Given the description of an element on the screen output the (x, y) to click on. 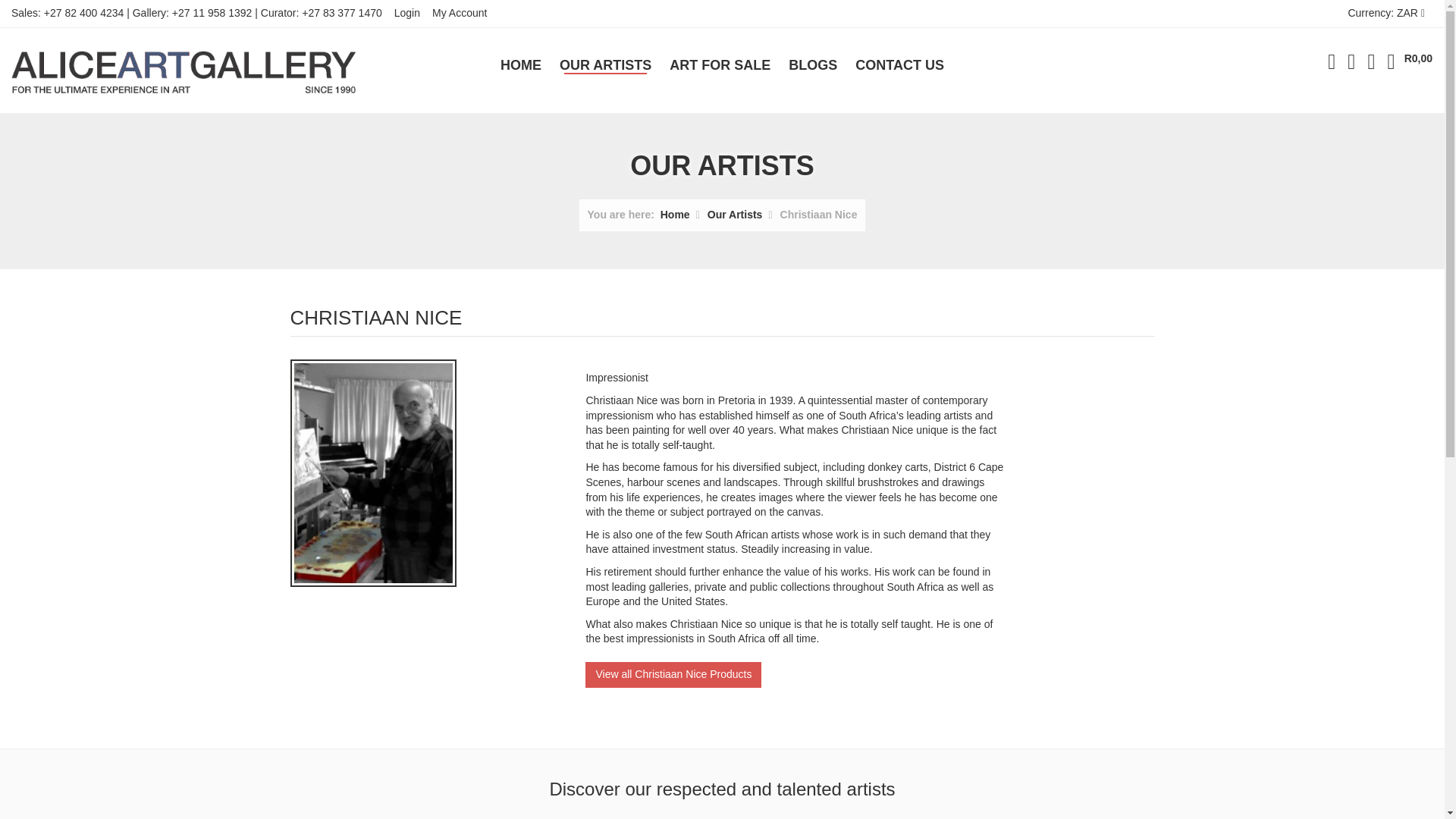
View all our Amos Langdown artworks (938, 814)
Artist: Alexis Bester (794, 814)
Artist: Adriaan Boshoff Jr (649, 814)
OUR ARTISTS (605, 64)
View all our Alexis Bester artworks (794, 814)
My Account (456, 13)
HOME (521, 64)
CONTACT US (899, 64)
View all our Adriaan Boshoff Jr artworks (649, 814)
Artist: Adriaan Boshoff (505, 814)
View all our Adriaan Boshoff artworks (505, 814)
View all our Andre de Beer artworks (1082, 814)
View all Christiaan Nice Products (673, 674)
Artist: Andre de Beer (1082, 814)
View all our Addy Simon artworks (361, 814)
